Given the description of an element on the screen output the (x, y) to click on. 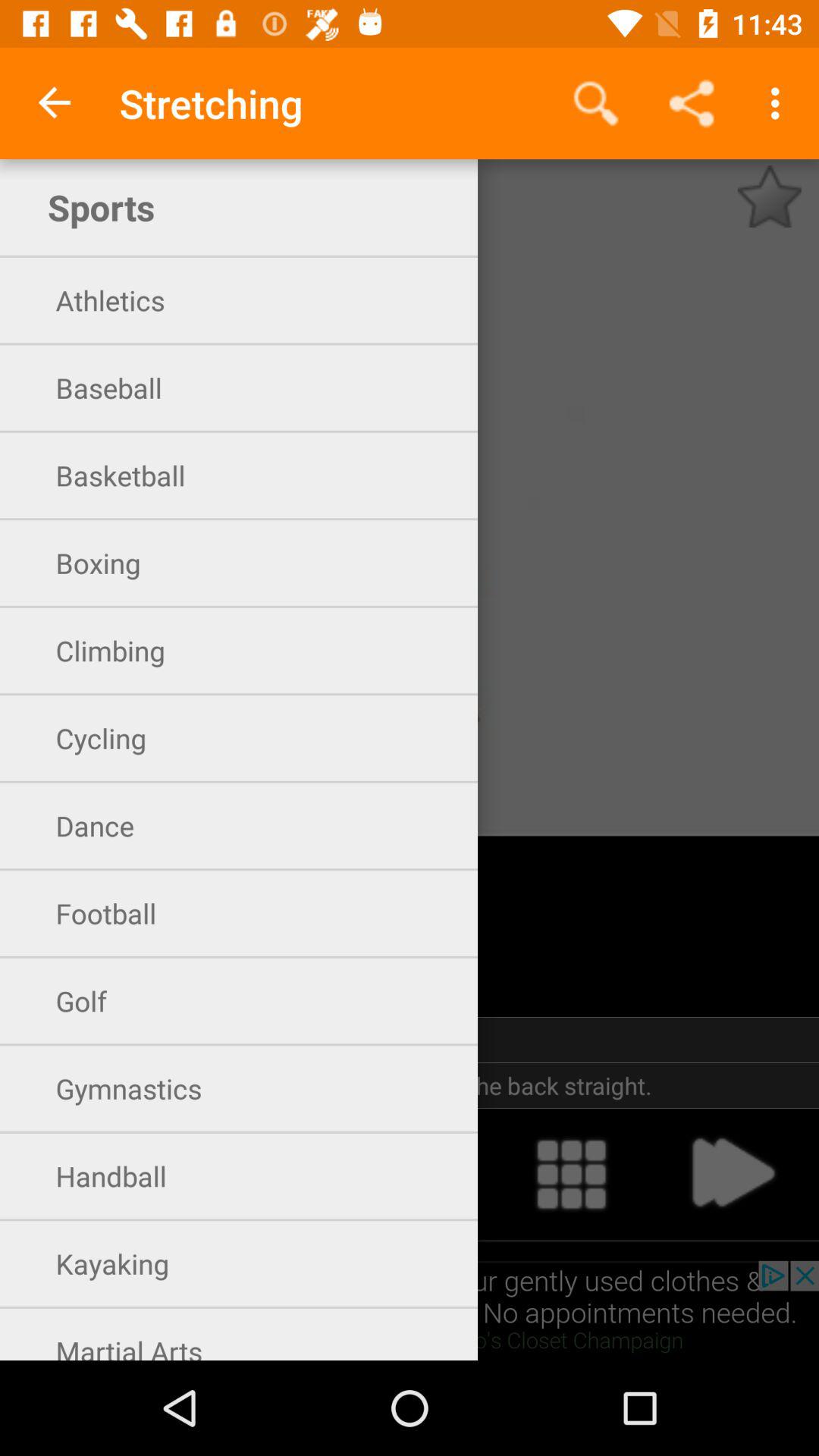
tap the icon below the gymnastics (248, 1174)
